Given the description of an element on the screen output the (x, y) to click on. 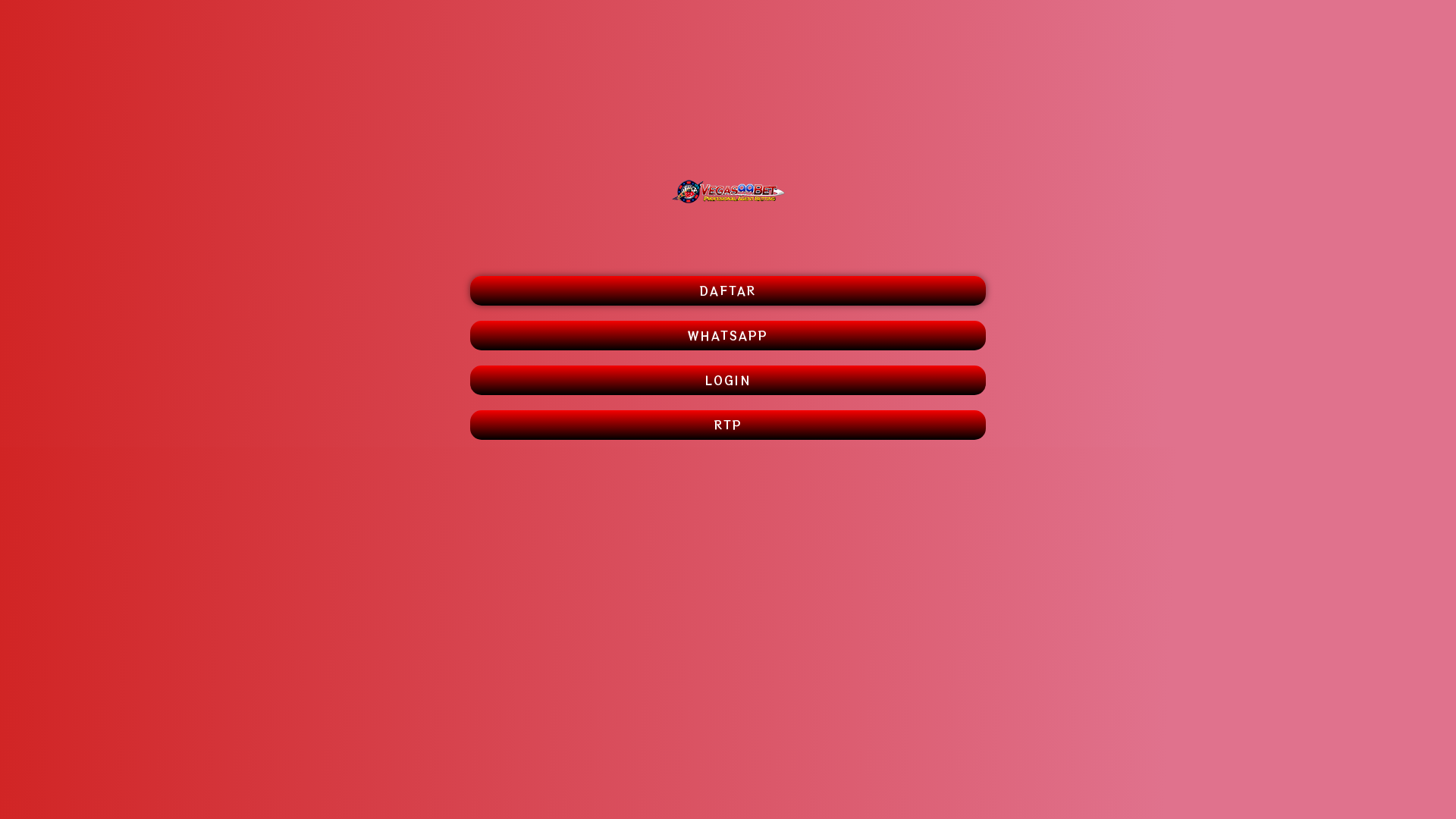
LOGIN Element type: text (727, 380)
WHATSAPP Element type: text (727, 335)
RTP Element type: text (727, 424)
DAFTAR Element type: text (727, 290)
